Given the description of an element on the screen output the (x, y) to click on. 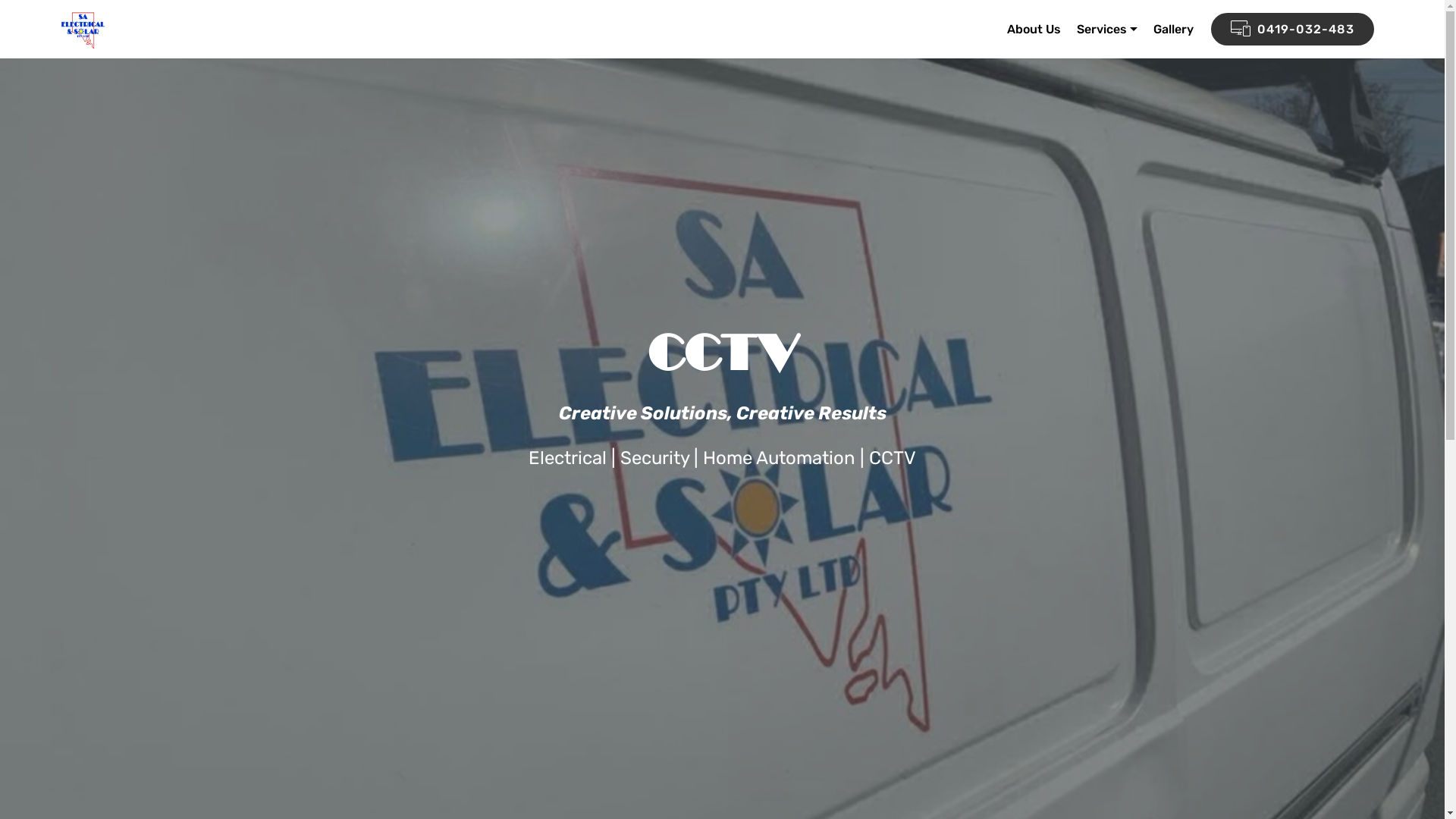
About Us Element type: text (1033, 28)
CCTV Element type: text (892, 457)
Gallery Element type: text (1173, 28)
Security Element type: text (654, 457)
Services Element type: text (1106, 28)
0419-032-483 Element type: text (1292, 28)
Home Automation Element type: text (778, 457)
Electrical Element type: text (567, 457)
